Given the description of an element on the screen output the (x, y) to click on. 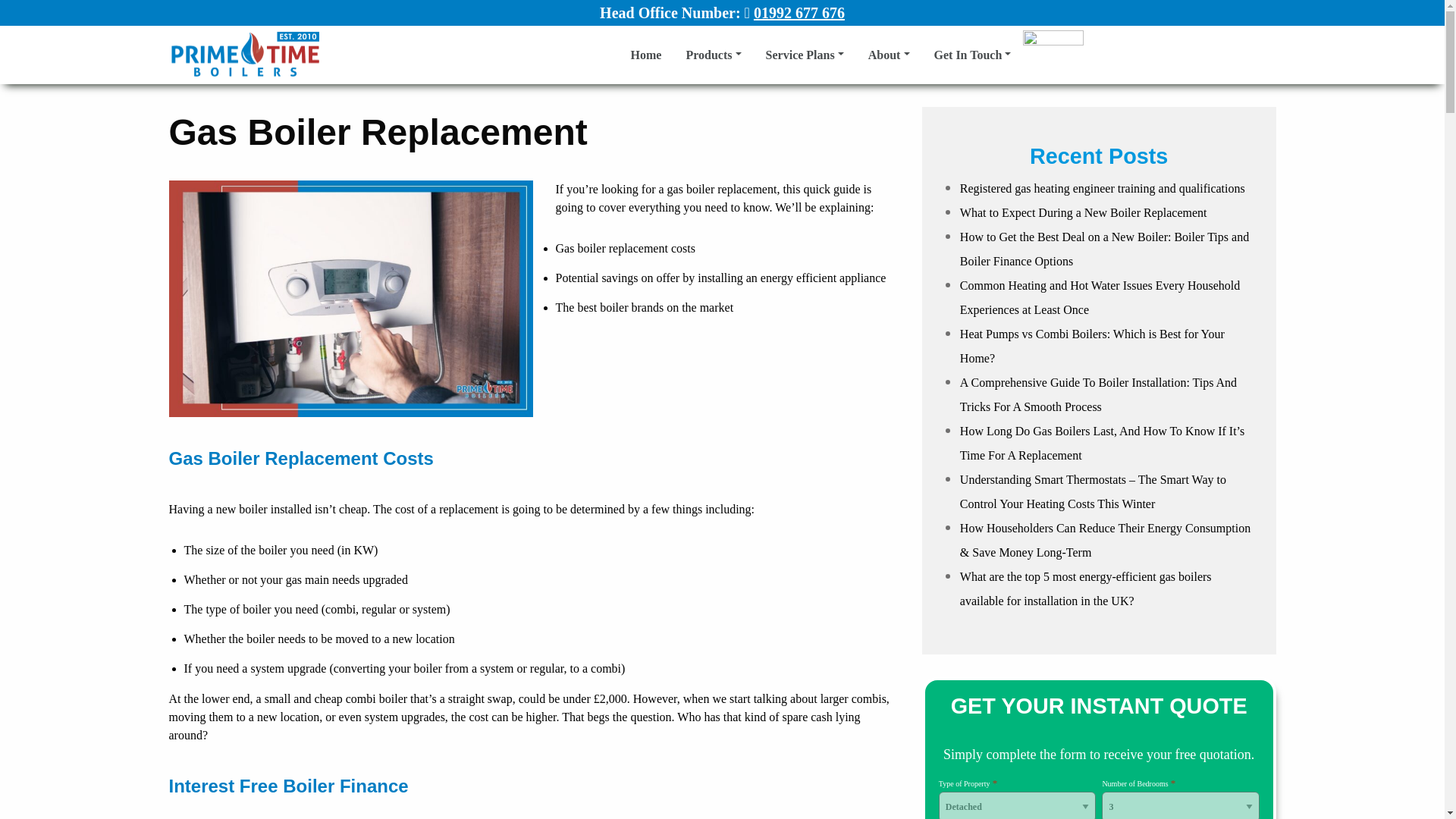
About (888, 54)
Home (646, 54)
01992 677 676 (799, 12)
Home (646, 54)
Products (712, 54)
Service Plans (805, 54)
Products (712, 54)
Get In Touch (972, 54)
About (888, 54)
Service Plans (805, 54)
